Given the description of an element on the screen output the (x, y) to click on. 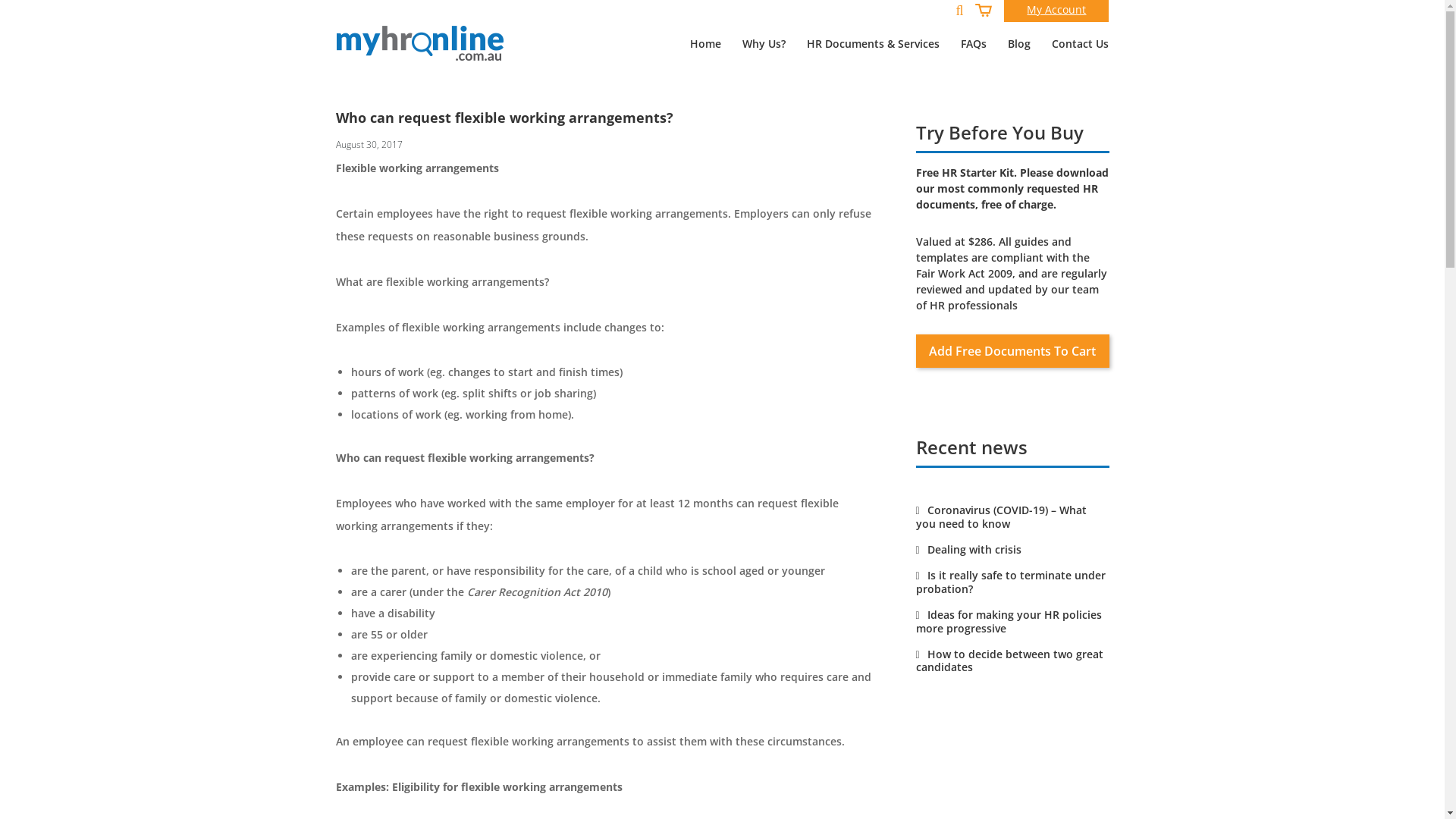
Add Free Documents To Cart Element type: text (1012, 350)
Why Us? Element type: text (763, 43)
How to decide between two great candidates Element type: text (1009, 660)
Blog Element type: text (1018, 43)
HR Documents & Services Element type: text (872, 43)
Dealing with crisis Element type: text (968, 549)
Contact Us Element type: text (1075, 43)
Ideas for making your HR policies more progressive Element type: text (1008, 621)
My HR Online Element type: text (420, 42)
Is it really safe to terminate under probation? Element type: text (1010, 581)
Home Element type: text (705, 43)
FAQs Element type: text (973, 43)
